Given the description of an element on the screen output the (x, y) to click on. 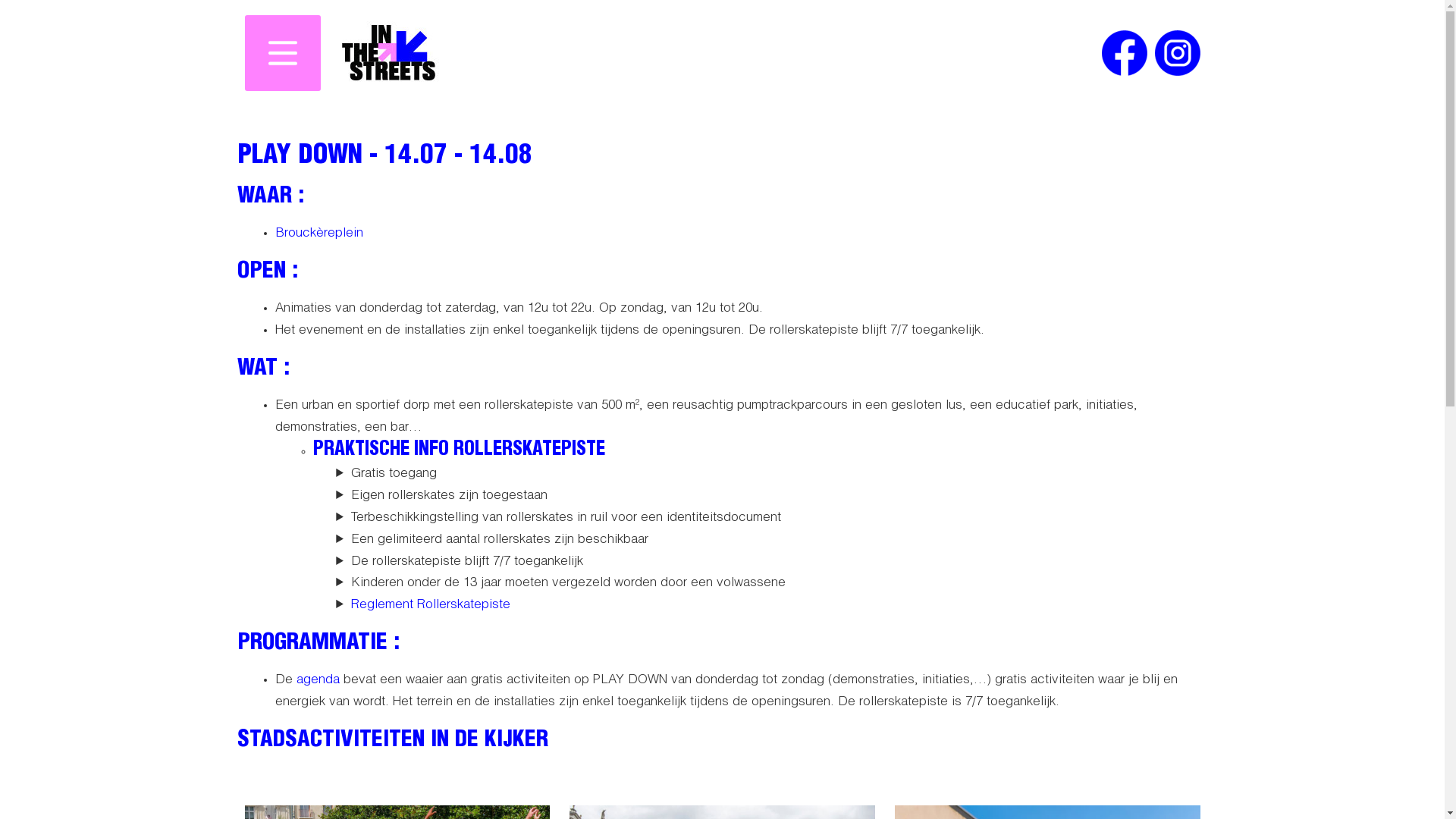
instagramm-ico.png Element type: hover (1176, 52)
agenda Element type: text (316, 680)
Reglement Rollerskatepiste Element type: text (429, 605)
facebook-ico.png Element type: hover (1123, 52)
